Given the description of an element on the screen output the (x, y) to click on. 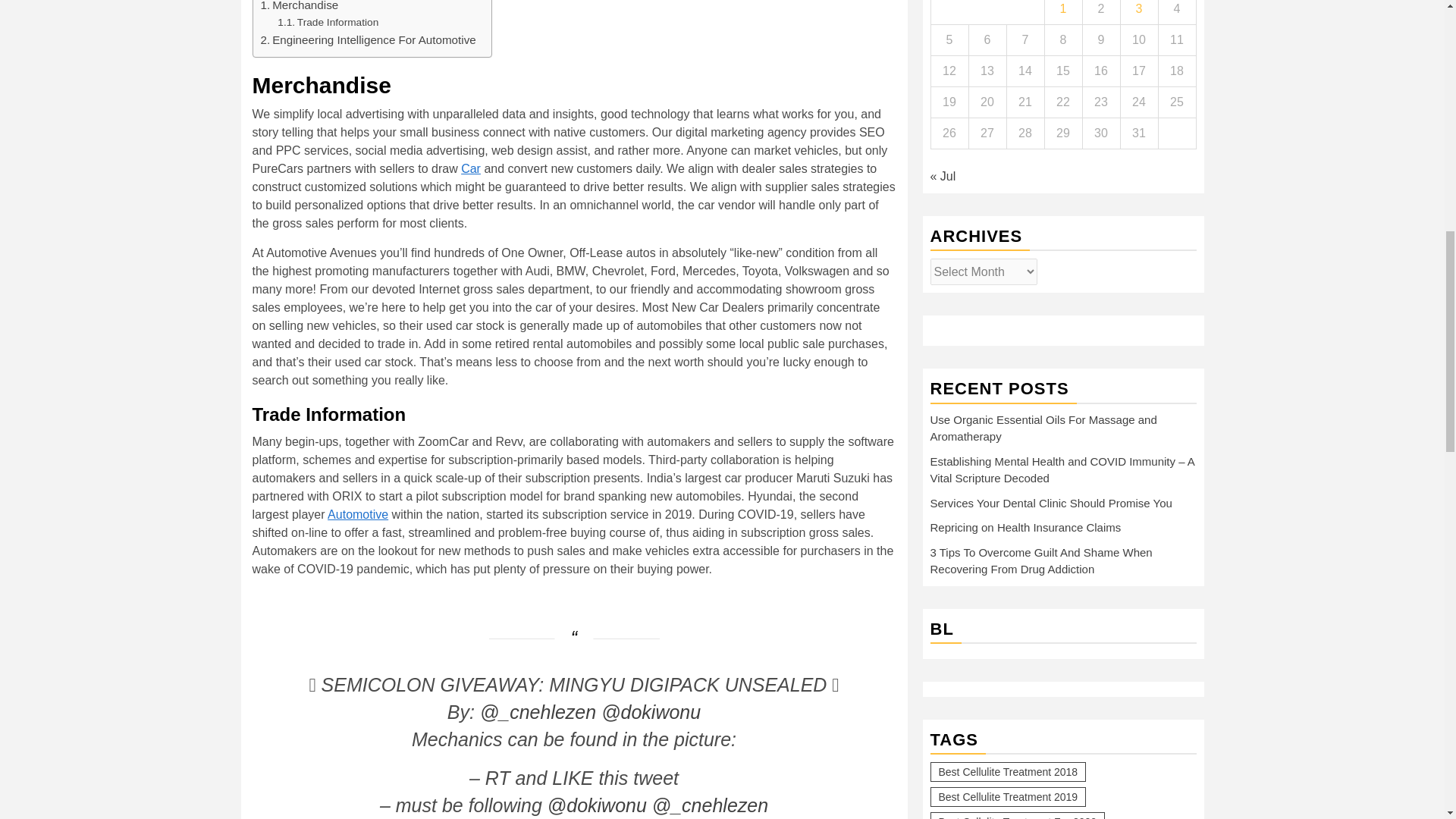
Car (470, 168)
Engineering Intelligence For Automotive (368, 40)
Automotive (357, 513)
Trade Information (328, 22)
Merchandise (299, 7)
Trade Information (328, 22)
Engineering Intelligence For Automotive (368, 40)
Merchandise (299, 7)
